Given the description of an element on the screen output the (x, y) to click on. 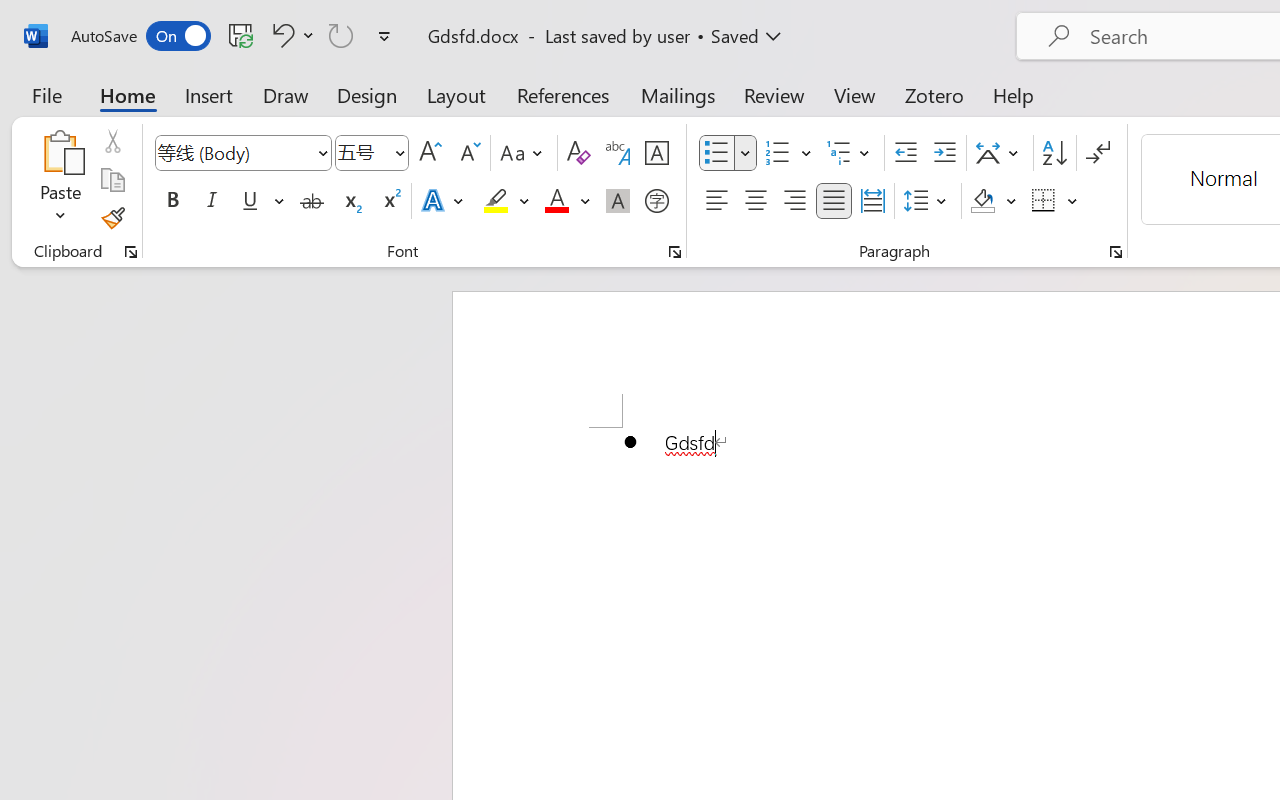
Undo Bullet Default (280, 35)
